Given the description of an element on the screen output the (x, y) to click on. 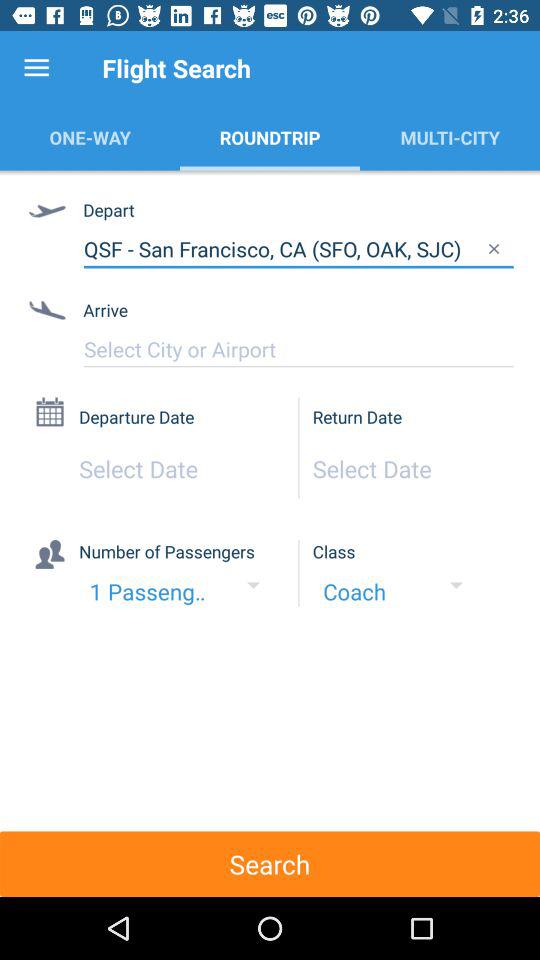
input city or airport for arrival (298, 349)
